Given the description of an element on the screen output the (x, y) to click on. 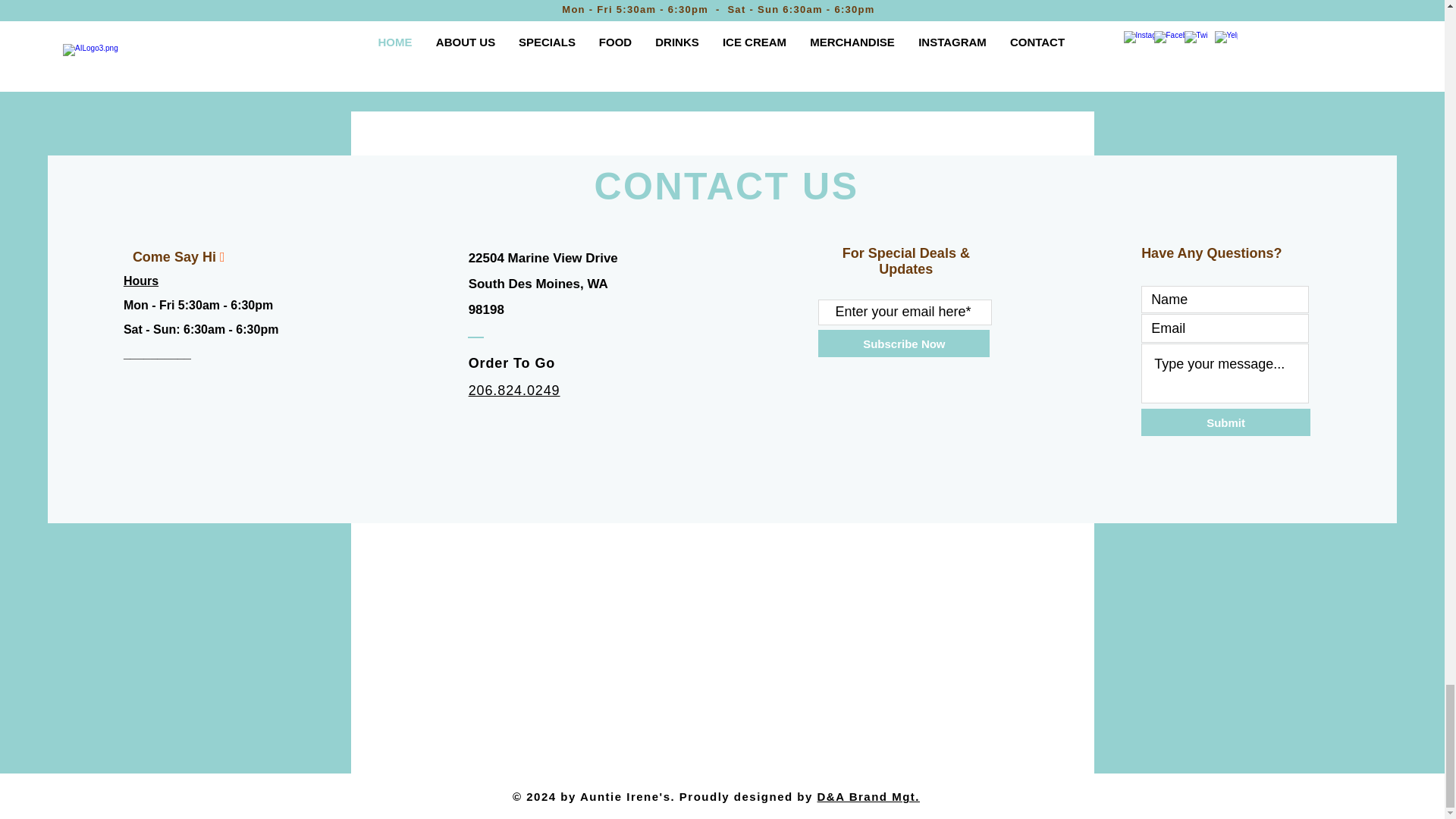
Submit (1225, 421)
Subscribe Now (904, 343)
206.824.0249 (514, 390)
